Given the description of an element on the screen output the (x, y) to click on. 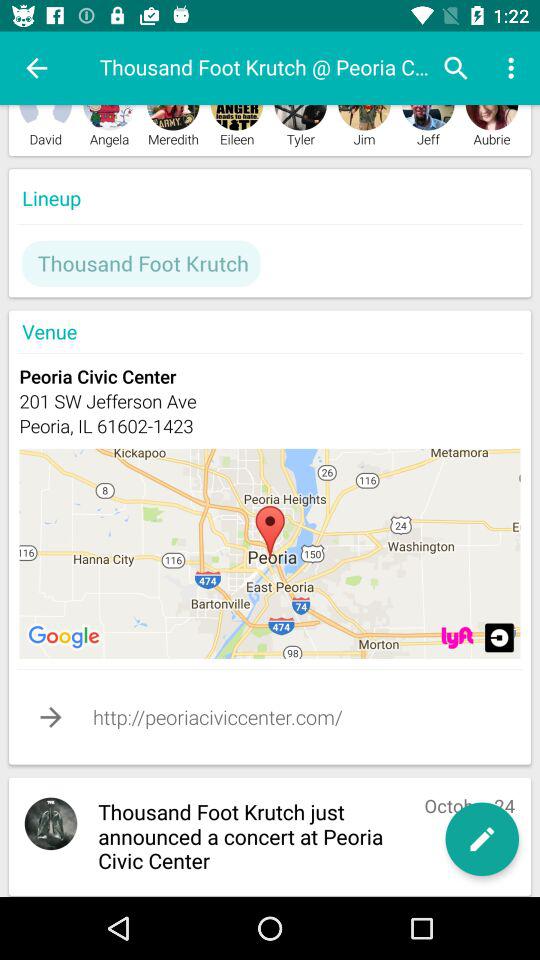
location (499, 637)
